Given the description of an element on the screen output the (x, y) to click on. 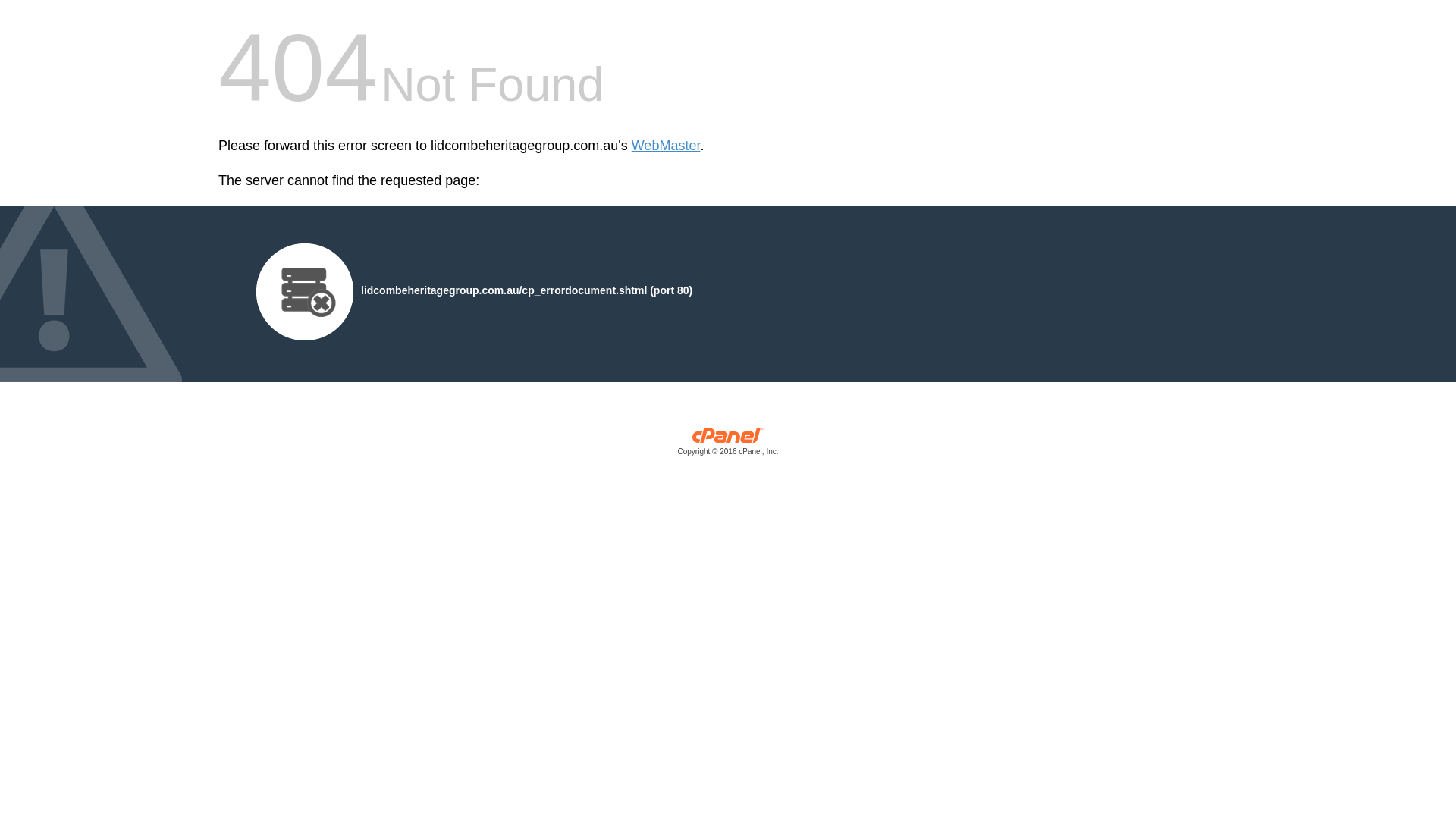
WebMaster Element type: text (665, 145)
